Given the description of an element on the screen output the (x, y) to click on. 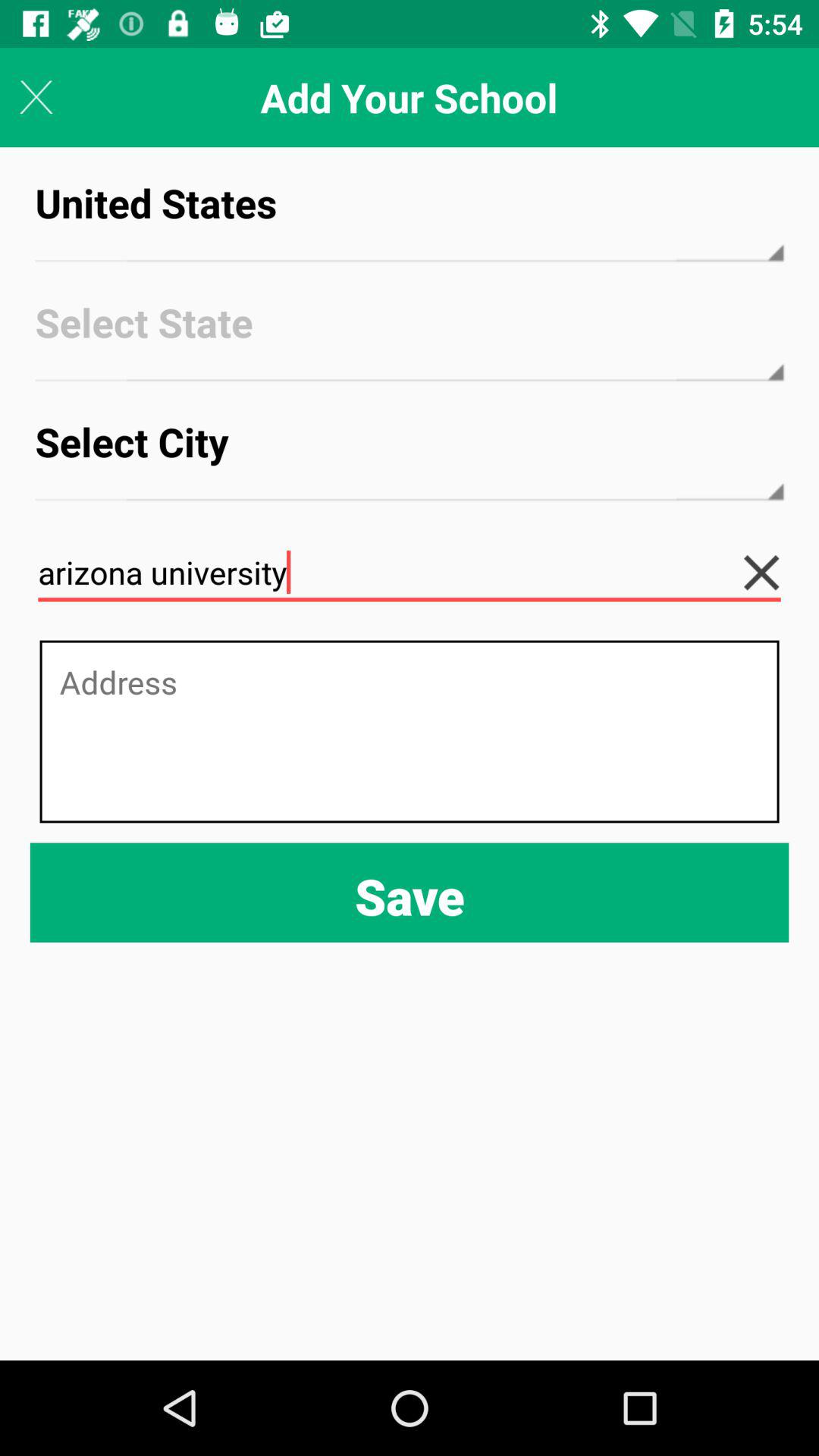
text box for address (409, 731)
